Given the description of an element on the screen output the (x, y) to click on. 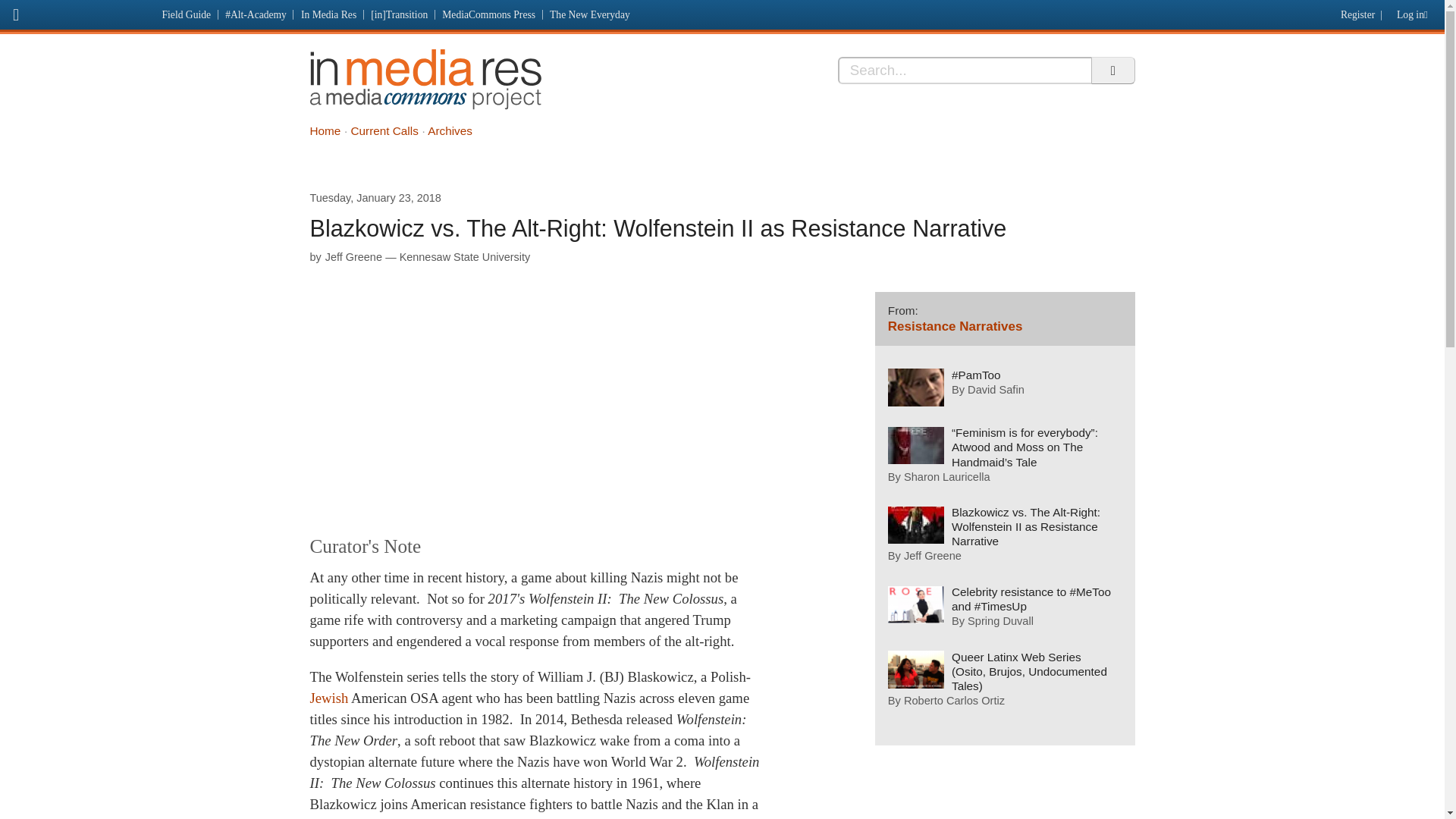
Jeff Greene (352, 256)
MediaCommons Press (489, 14)
In Media Res (424, 79)
Enter the terms you wish to search for. (965, 70)
Resistance Narratives (955, 326)
Home (324, 130)
Field Guide (186, 14)
In Media Res (328, 14)
Front page (77, 11)
Kennesaw State University (464, 256)
